Given the description of an element on the screen output the (x, y) to click on. 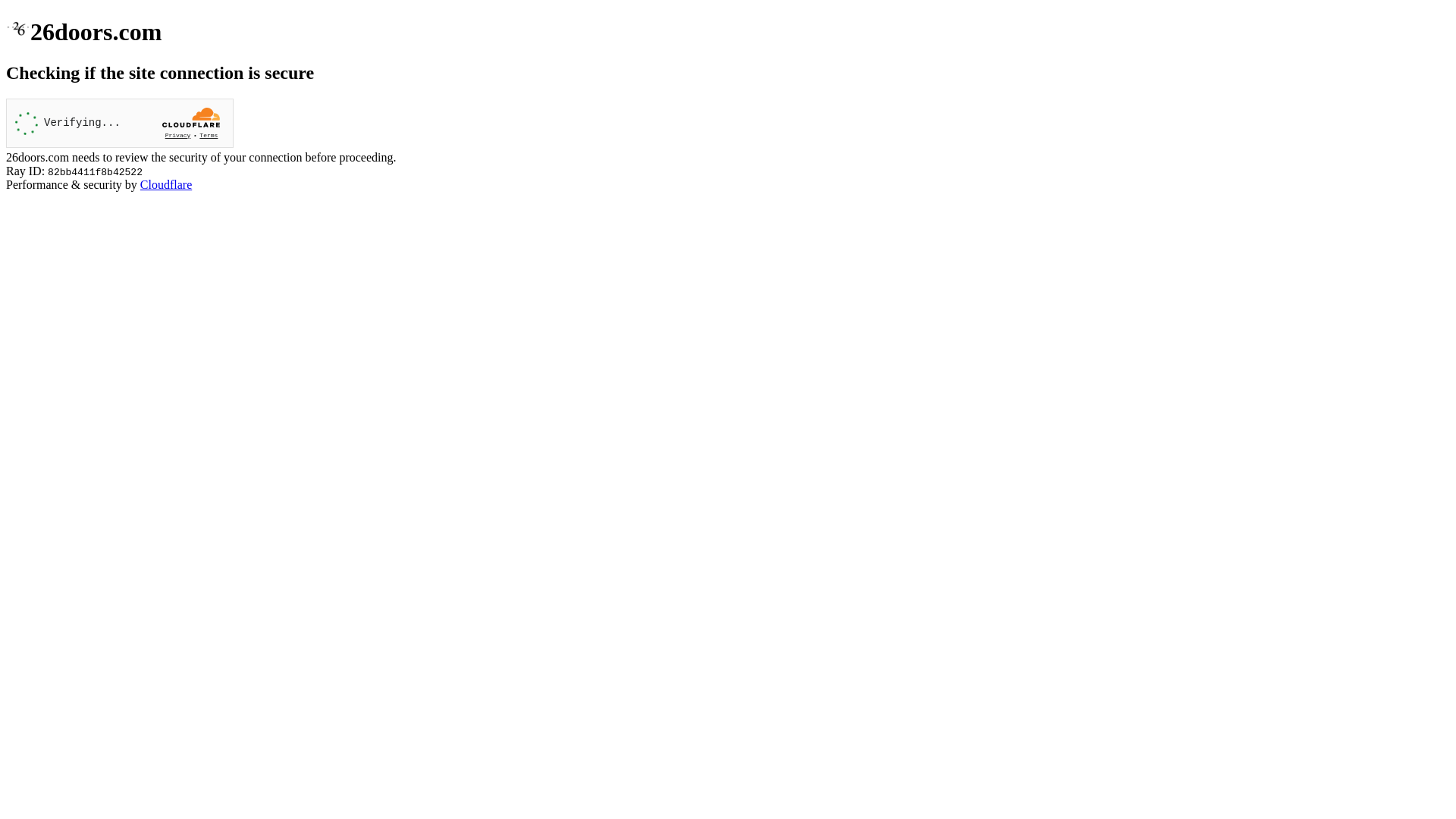
Widget containing a Cloudflare security challenge Element type: hover (119, 122)
Cloudflare Element type: text (165, 184)
